Given the description of an element on the screen output the (x, y) to click on. 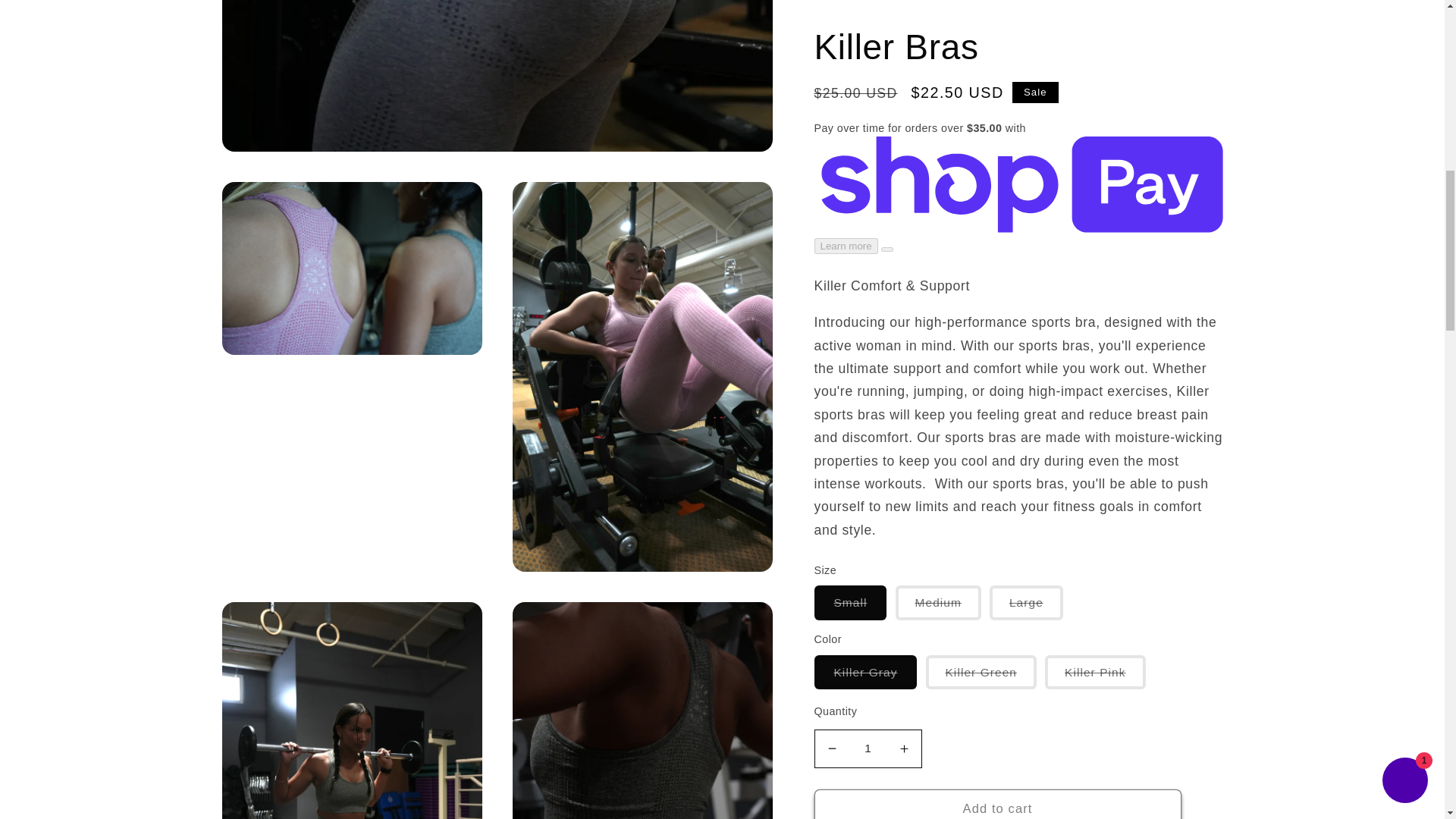
1 (867, 49)
